Given the description of an element on the screen output the (x, y) to click on. 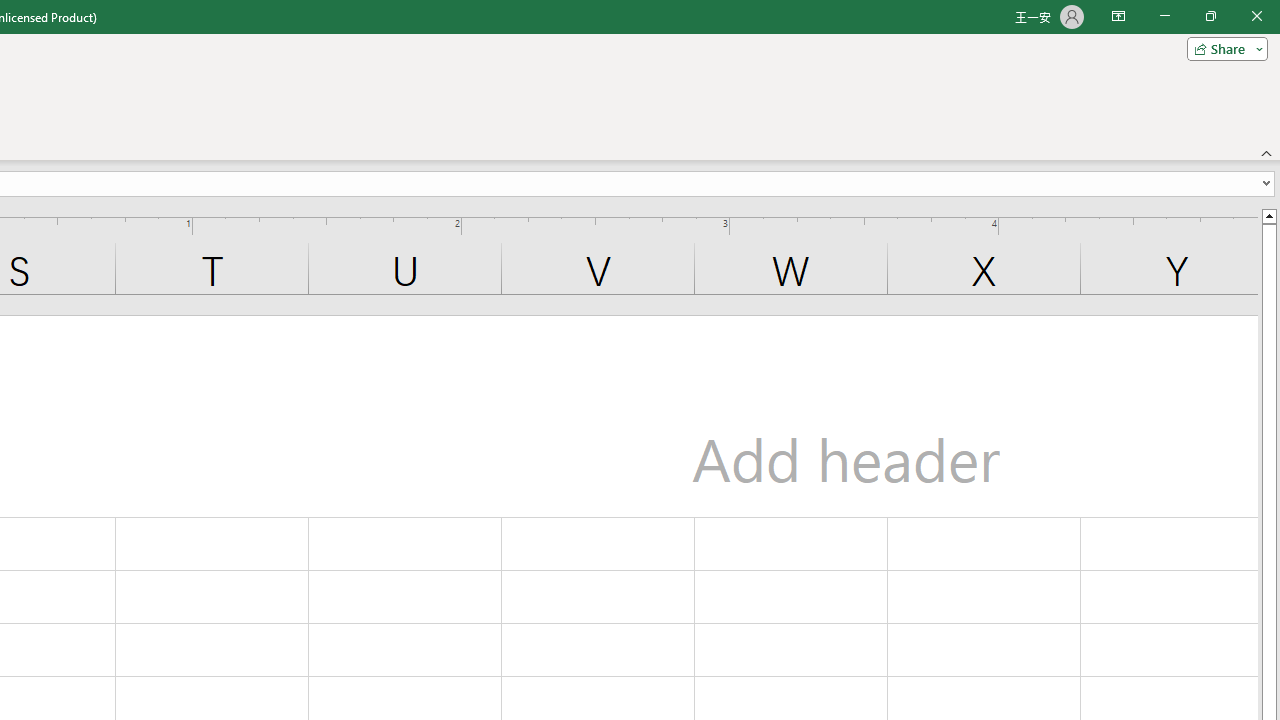
Restore Down (1210, 16)
